Given the description of an element on the screen output the (x, y) to click on. 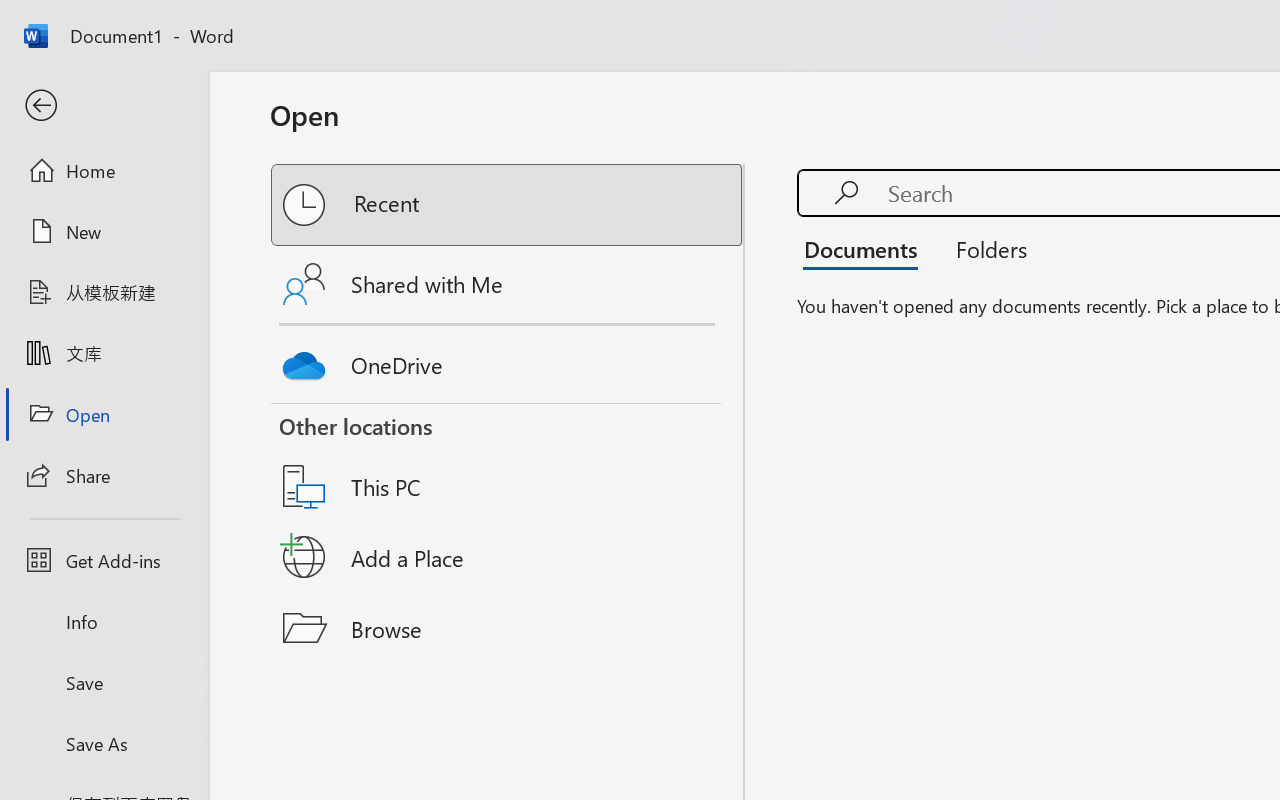
Recent (507, 205)
Back (104, 106)
Documents (866, 248)
Info (104, 621)
